Given the description of an element on the screen output the (x, y) to click on. 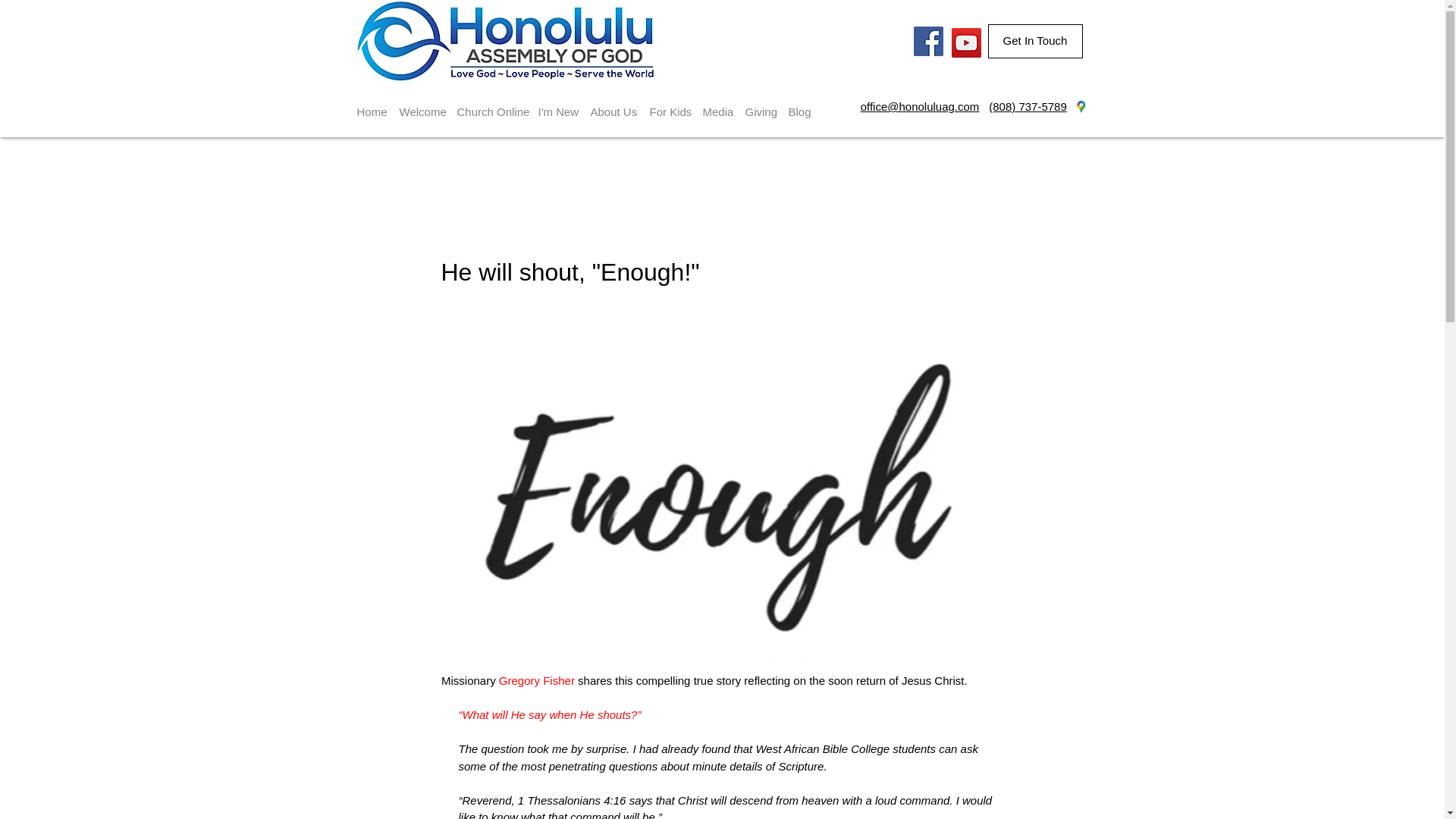
Media (716, 104)
Giving (759, 104)
Home (371, 104)
I'm New (558, 104)
Get In Touch (1034, 41)
Church Online (490, 104)
For Kids (669, 104)
Blog (799, 104)
About Us (613, 104)
Welcome (421, 104)
